Given the description of an element on the screen output the (x, y) to click on. 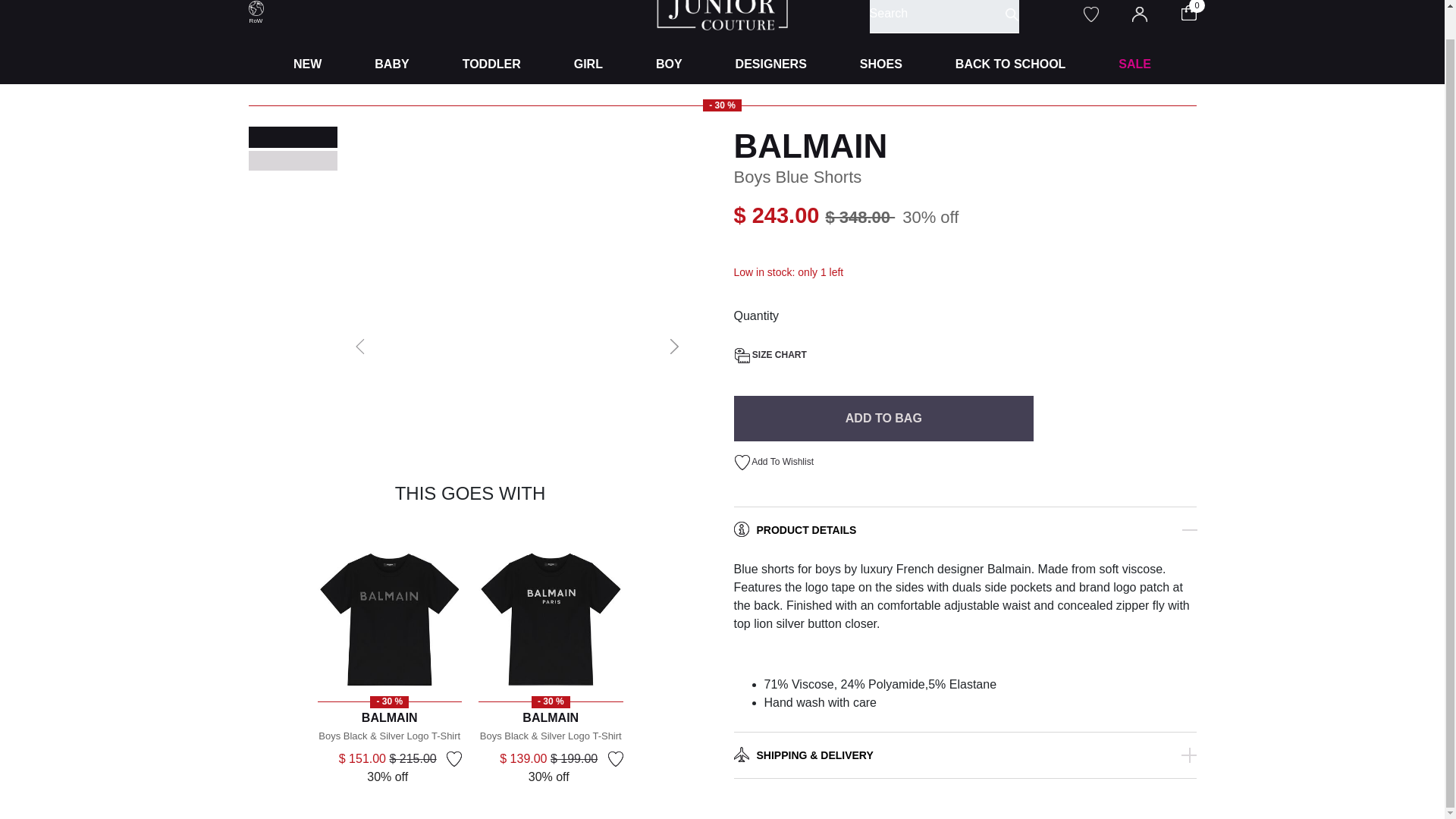
Juniour Couture Home (721, 6)
0 (1197, 11)
BABY (391, 64)
Cart 0 Items (1197, 11)
